Given the description of an element on the screen output the (x, y) to click on. 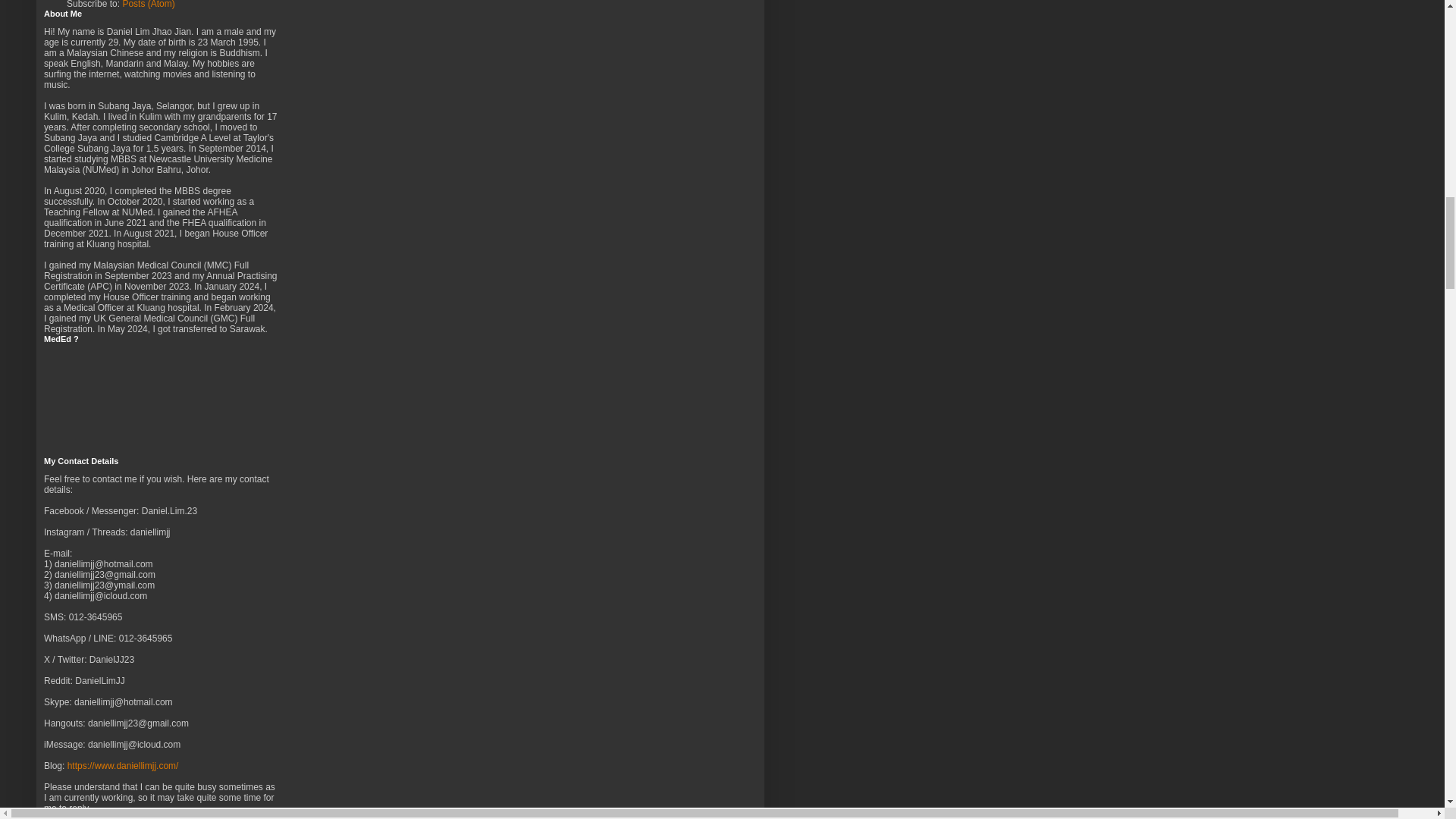
Newer Posts (95, 1)
Older Posts (155, 1)
Home (201, 1)
Older Posts (155, 1)
Newer Posts (95, 1)
